Given the description of an element on the screen output the (x, y) to click on. 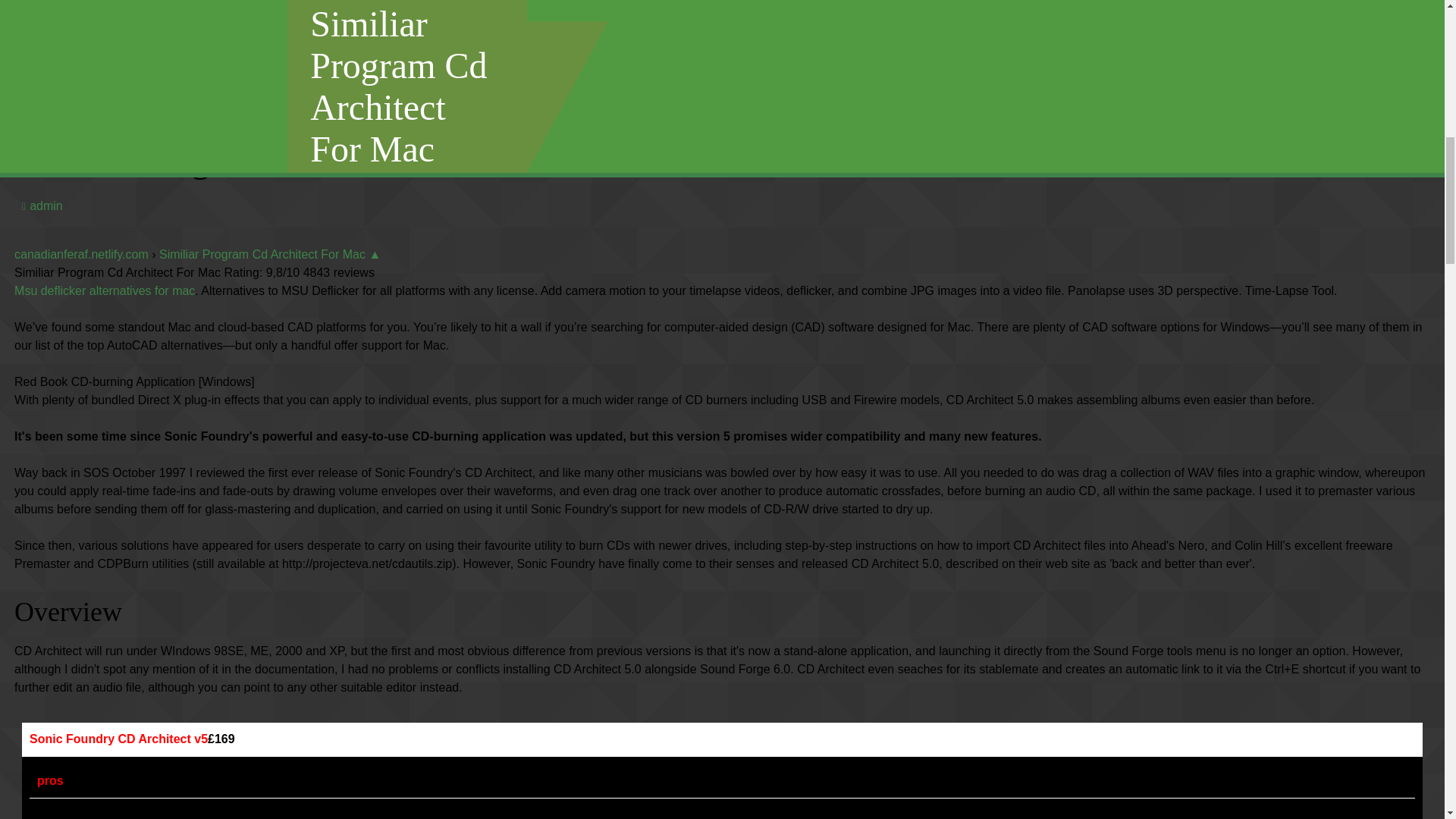
Msu deflicker alternatives for mac (104, 290)
Msu deflicker alternatives for mac (104, 290)
canadianferaf.netlify.com (81, 254)
admin (41, 205)
